Given the description of an element on the screen output the (x, y) to click on. 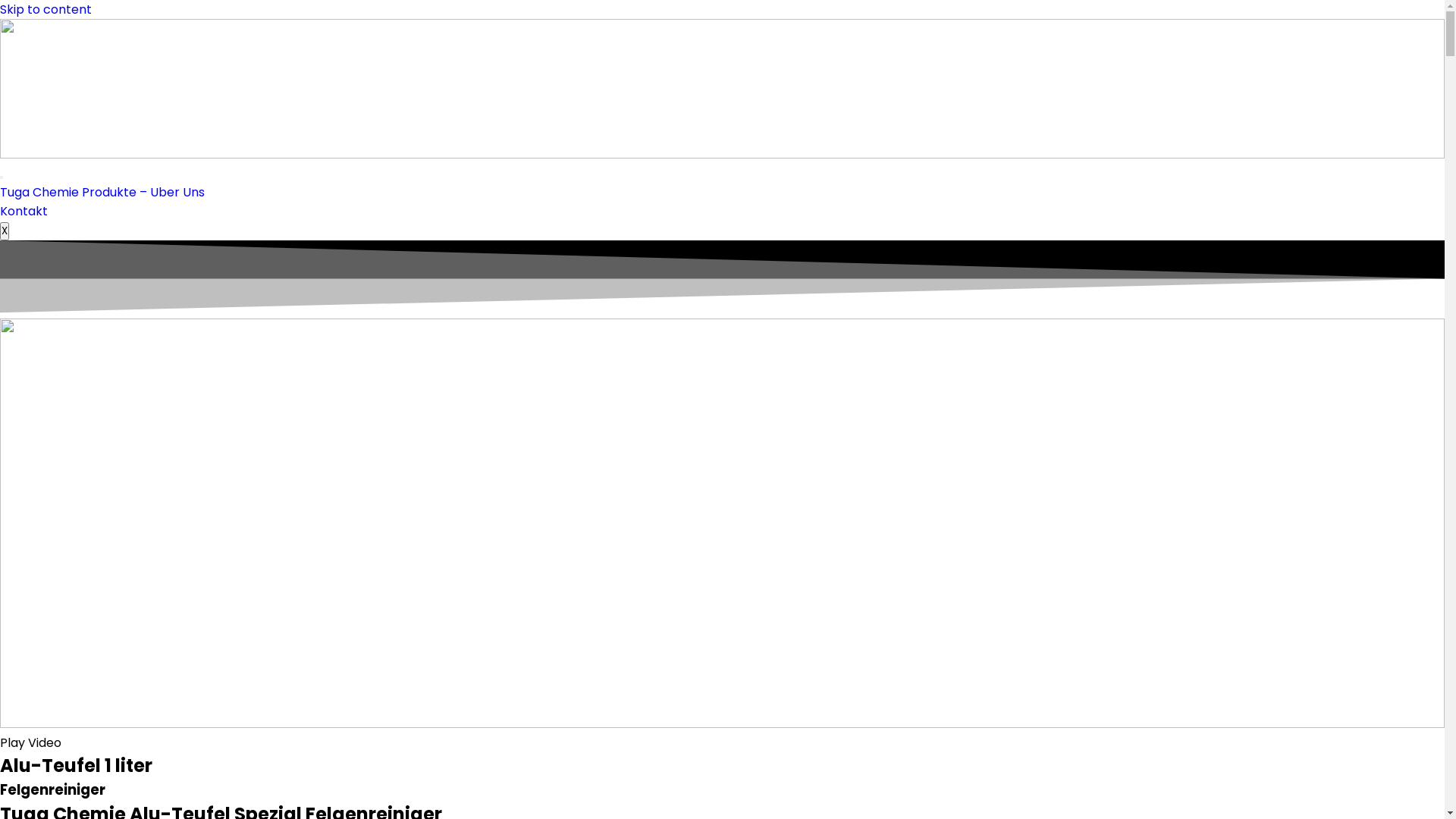
Skip to content Element type: text (45, 9)
Kontakt Element type: text (23, 210)
X Element type: text (4, 231)
